Given the description of an element on the screen output the (x, y) to click on. 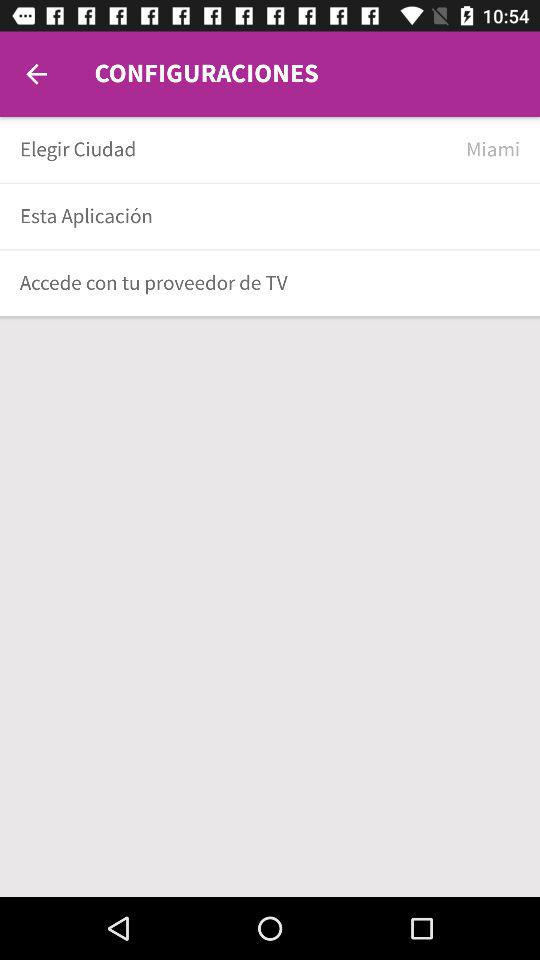
scroll until miami icon (493, 149)
